Given the description of an element on the screen output the (x, y) to click on. 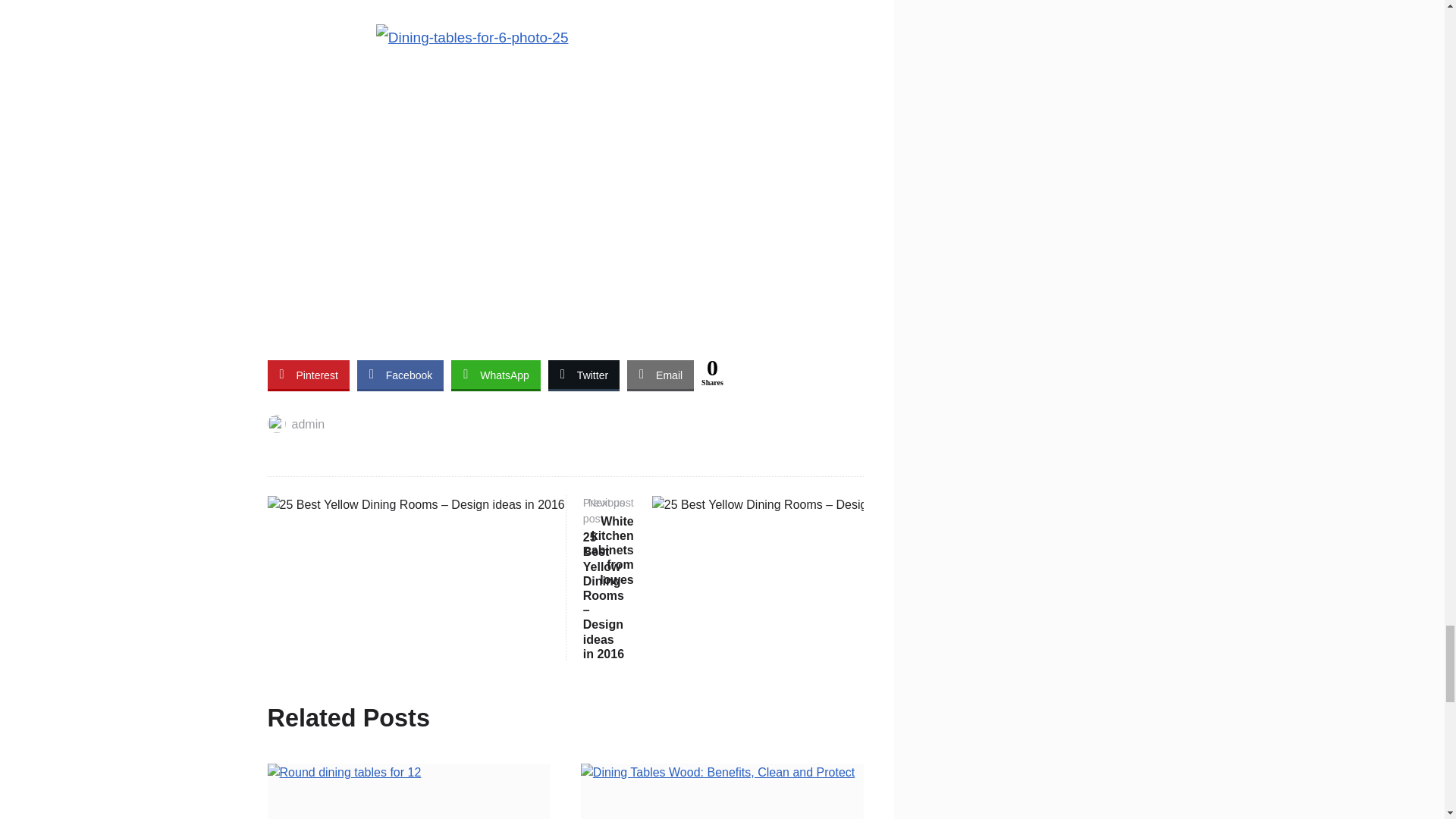
admin (724, 541)
WhatsApp (295, 423)
Facebook (495, 374)
Email (400, 374)
Pinterest (660, 374)
Twitter (308, 374)
